Given the description of an element on the screen output the (x, y) to click on. 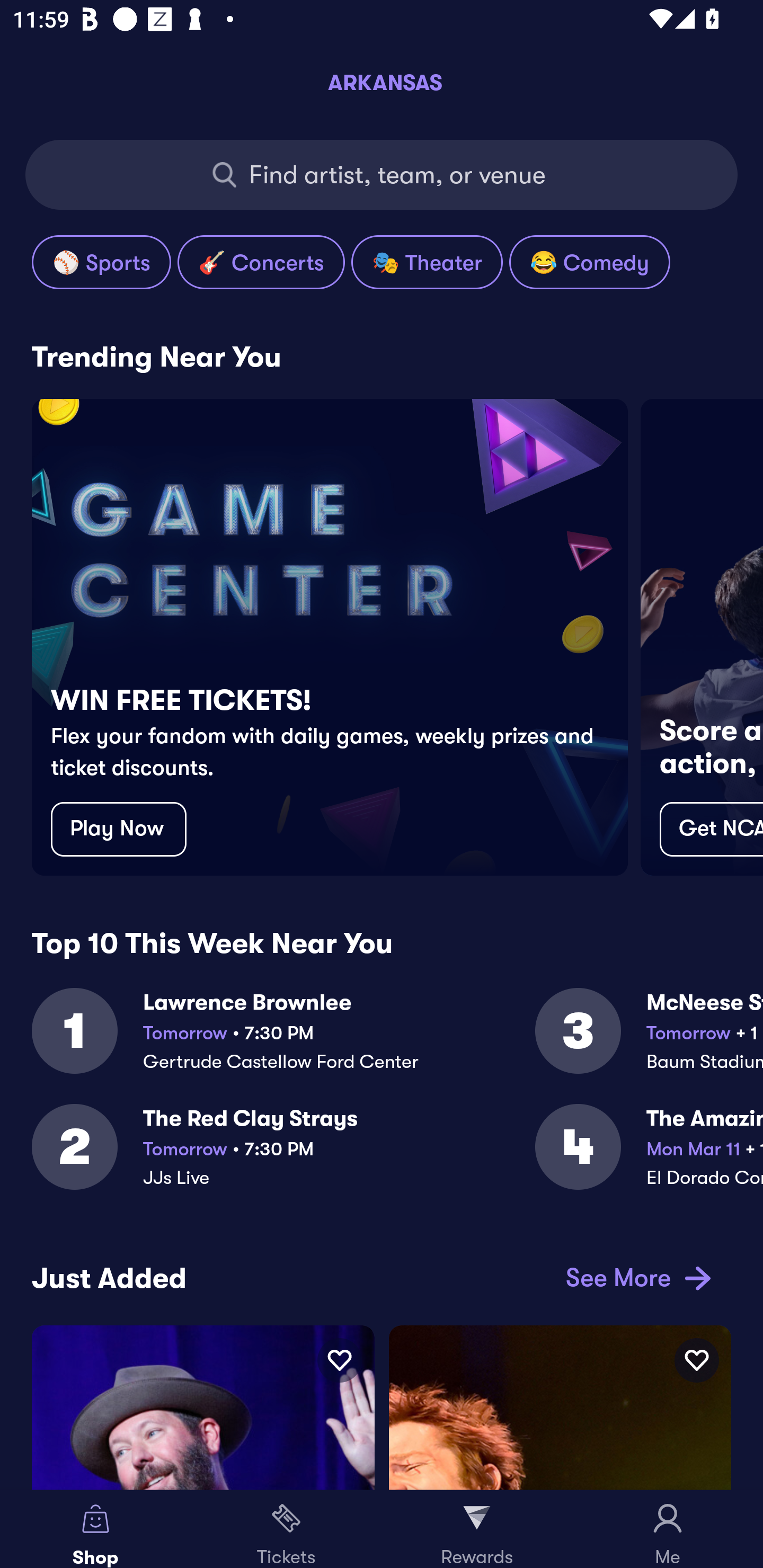
ARKANSAS (381, 81)
Find artist, team, or venue (381, 174)
⚾ Sports (101, 261)
🎸 Concerts (261, 261)
🎭 Theater (426, 261)
😂 Comedy (589, 261)
2 The Red Clay Strays Tomorrow  • 7:30 PM JJs Live (283, 1158)
See More (635, 1277)
icon button (339, 1359)
icon button (696, 1359)
Shop (95, 1529)
Tickets (285, 1529)
Rewards (476, 1529)
Me (667, 1529)
